Given the description of an element on the screen output the (x, y) to click on. 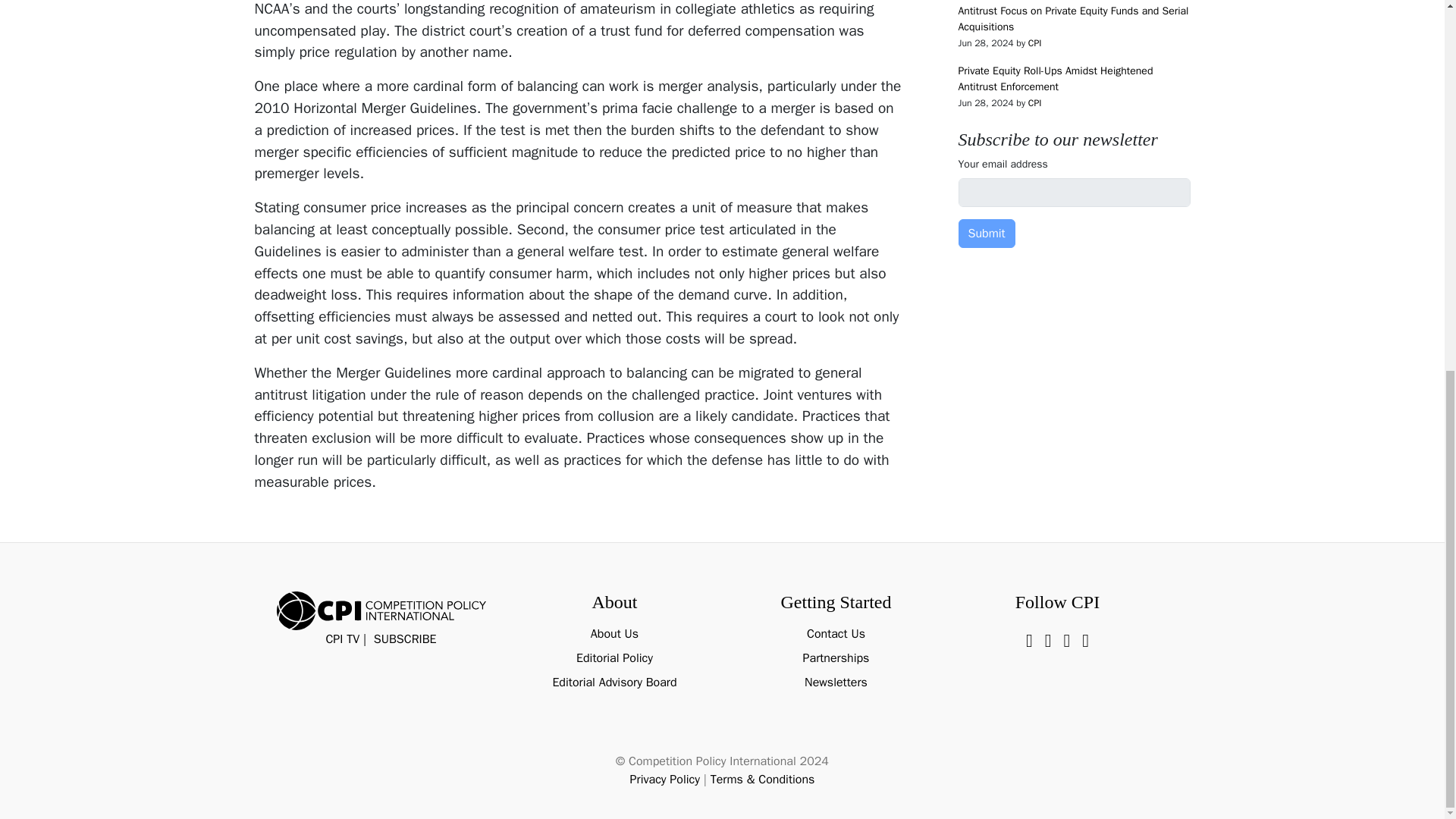
CPI (1034, 42)
